Given the description of an element on the screen output the (x, y) to click on. 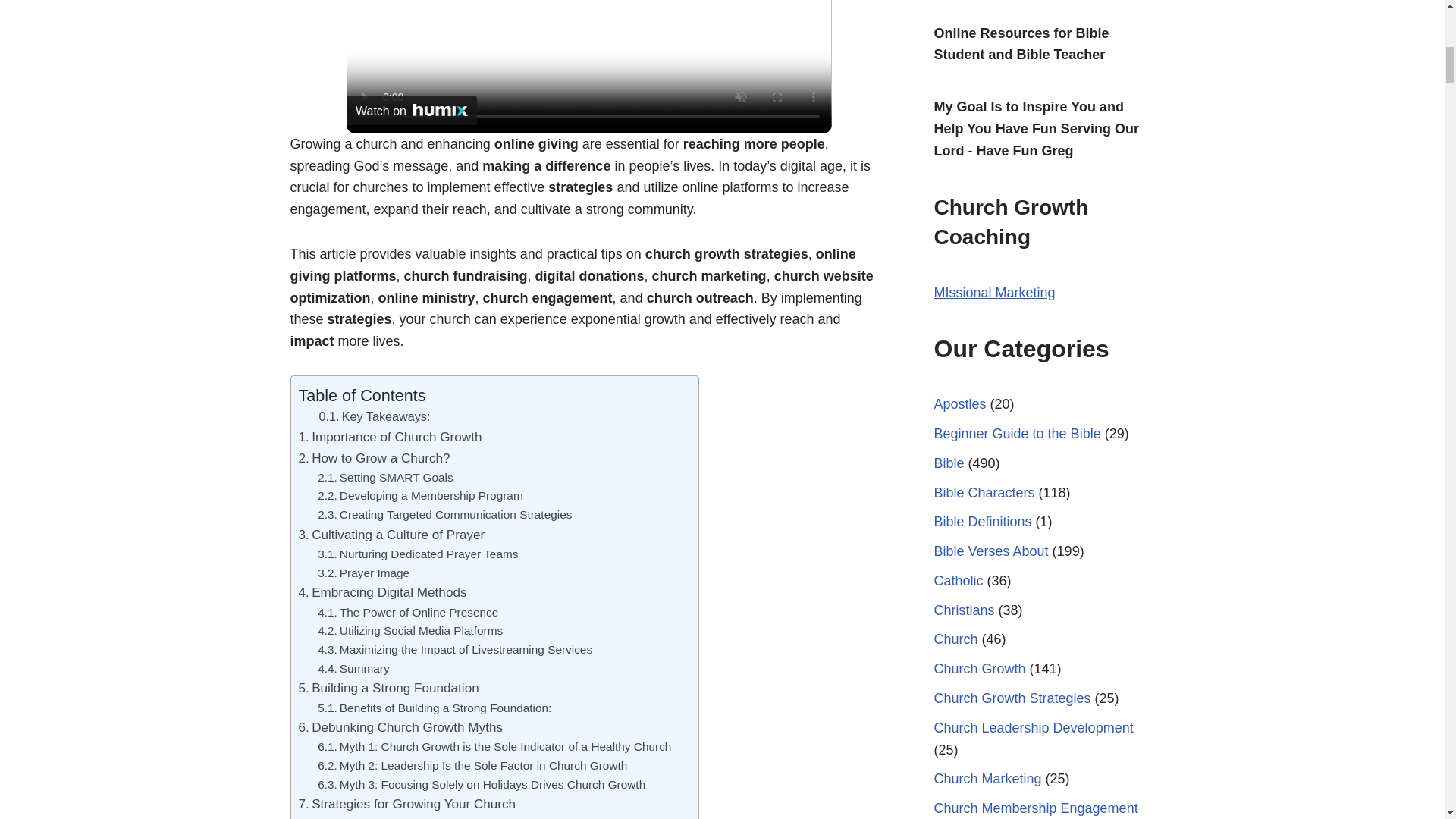
How to Grow a Church? (373, 457)
Key Takeaways: (373, 416)
Setting SMART Goals (384, 477)
Creating Targeted Communication Strategies (444, 515)
Importance of Church Growth (389, 436)
Developing a Membership Program (419, 496)
